Given the description of an element on the screen output the (x, y) to click on. 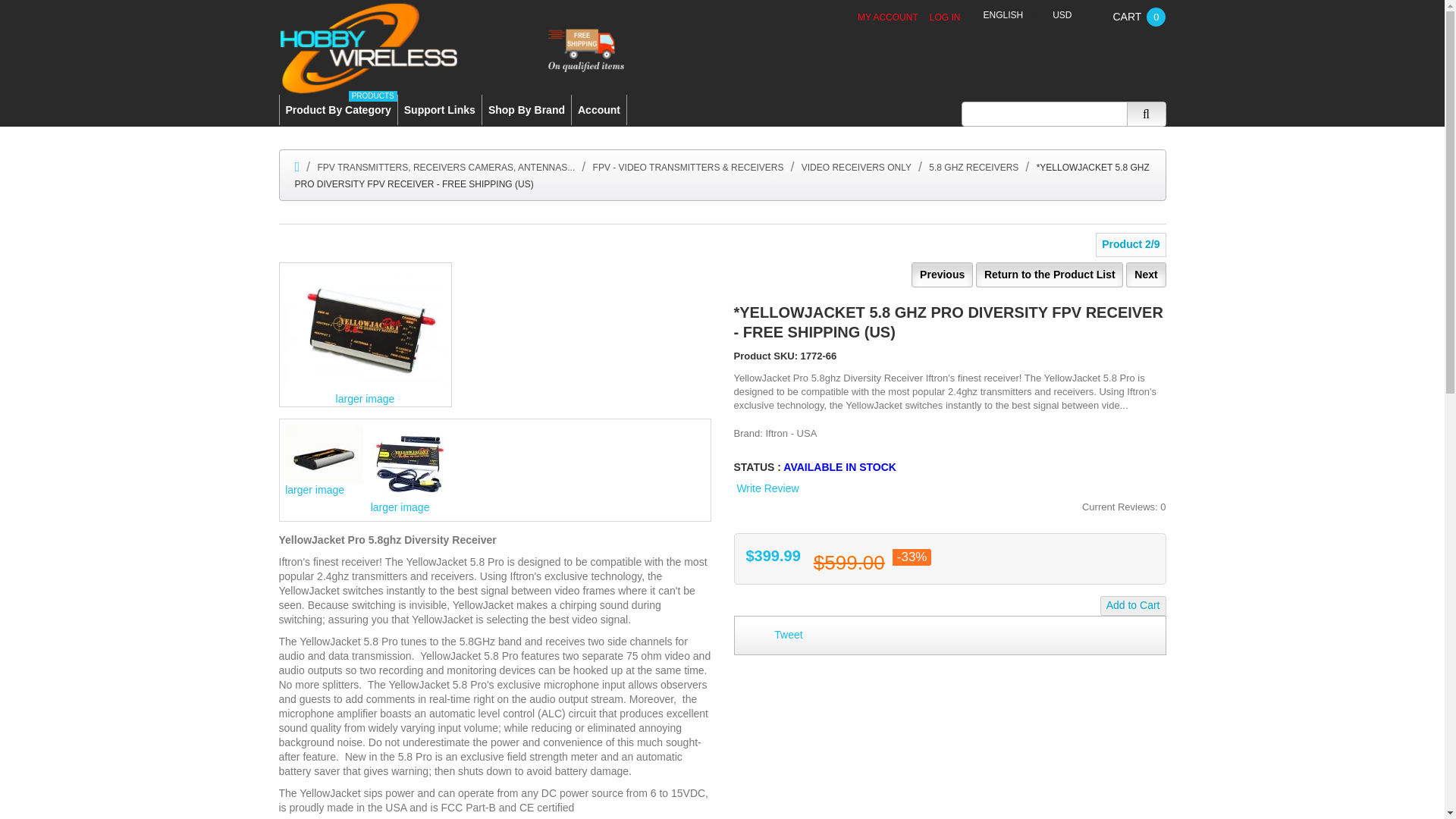
Support Links (337, 110)
LOG IN (439, 110)
Shop By Brand (945, 17)
Add to Cart (525, 110)
MY ACCOUNT (1133, 605)
